Given the description of an element on the screen output the (x, y) to click on. 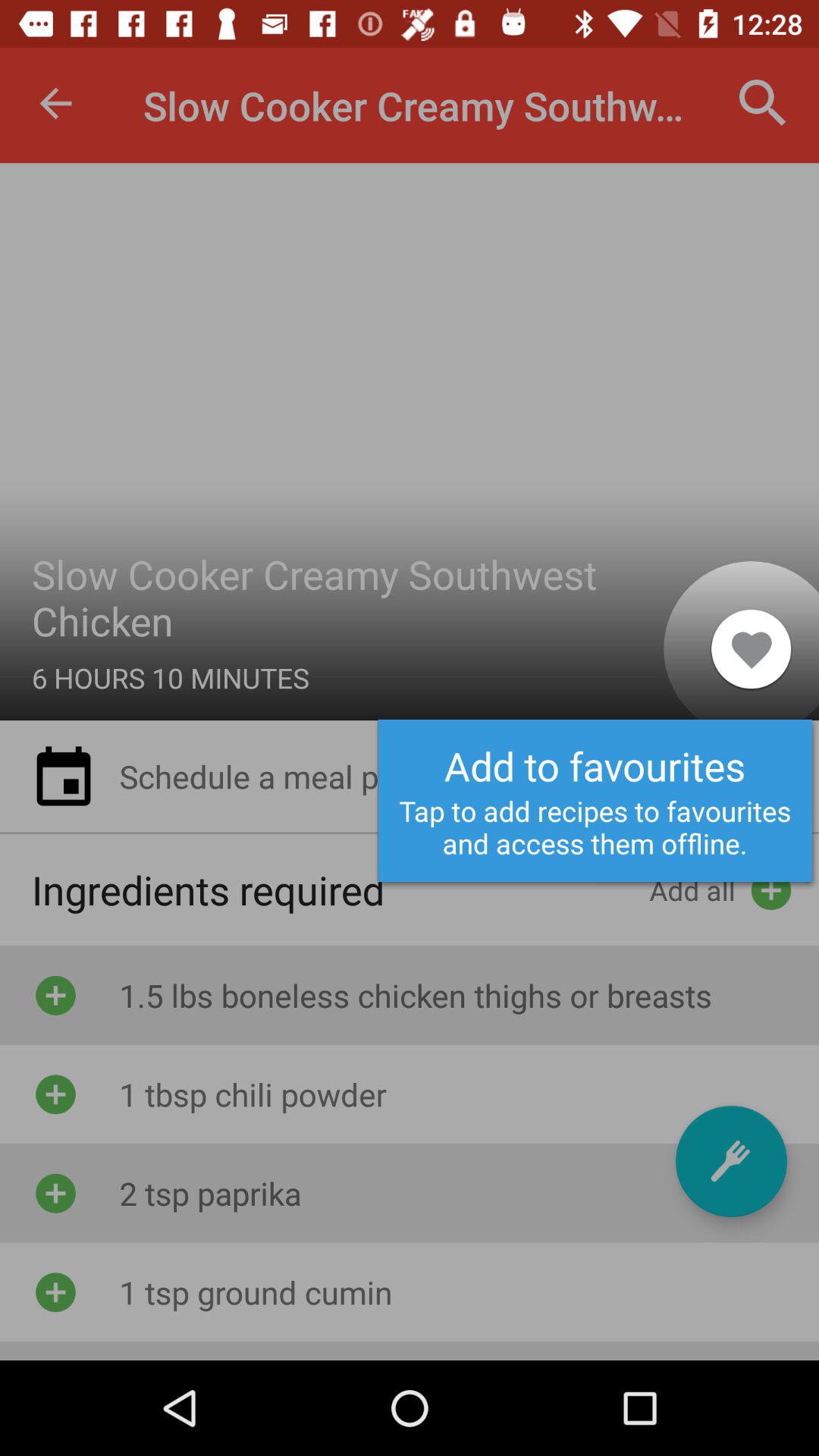
press the item at the top right corner (763, 103)
